Given the description of an element on the screen output the (x, y) to click on. 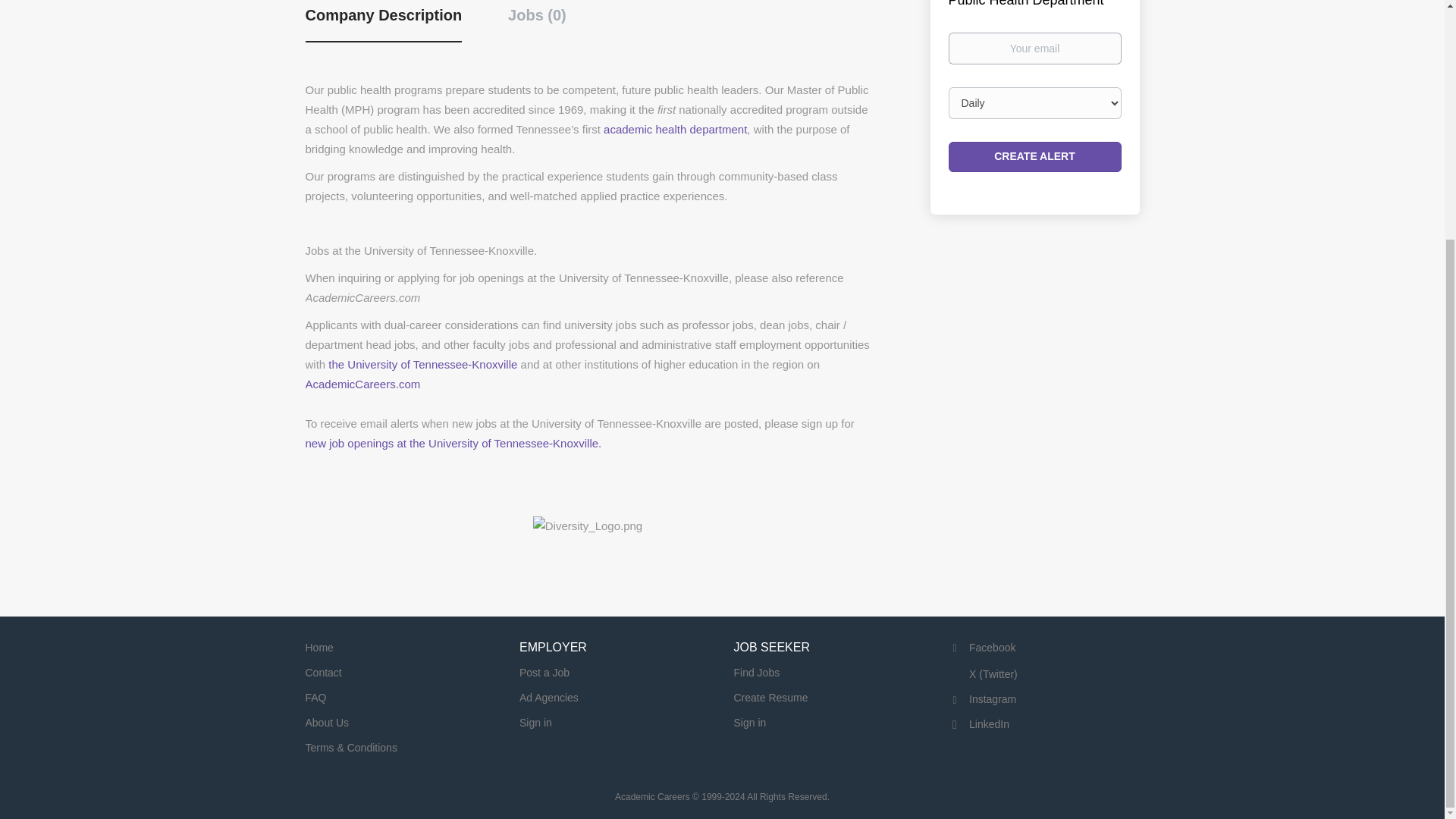
Contact (322, 672)
About Us (326, 722)
Create alert (1034, 156)
Ad Agencies (548, 697)
Sign in (750, 722)
Home (318, 647)
the University of Tennessee-Knoxville (422, 364)
Create alert (1034, 156)
academic health department (675, 128)
FAQ (315, 697)
Post a Job (544, 672)
Find Jobs (756, 672)
Sign in (535, 722)
Company Description (382, 23)
Create Resume (770, 697)
